Given the description of an element on the screen output the (x, y) to click on. 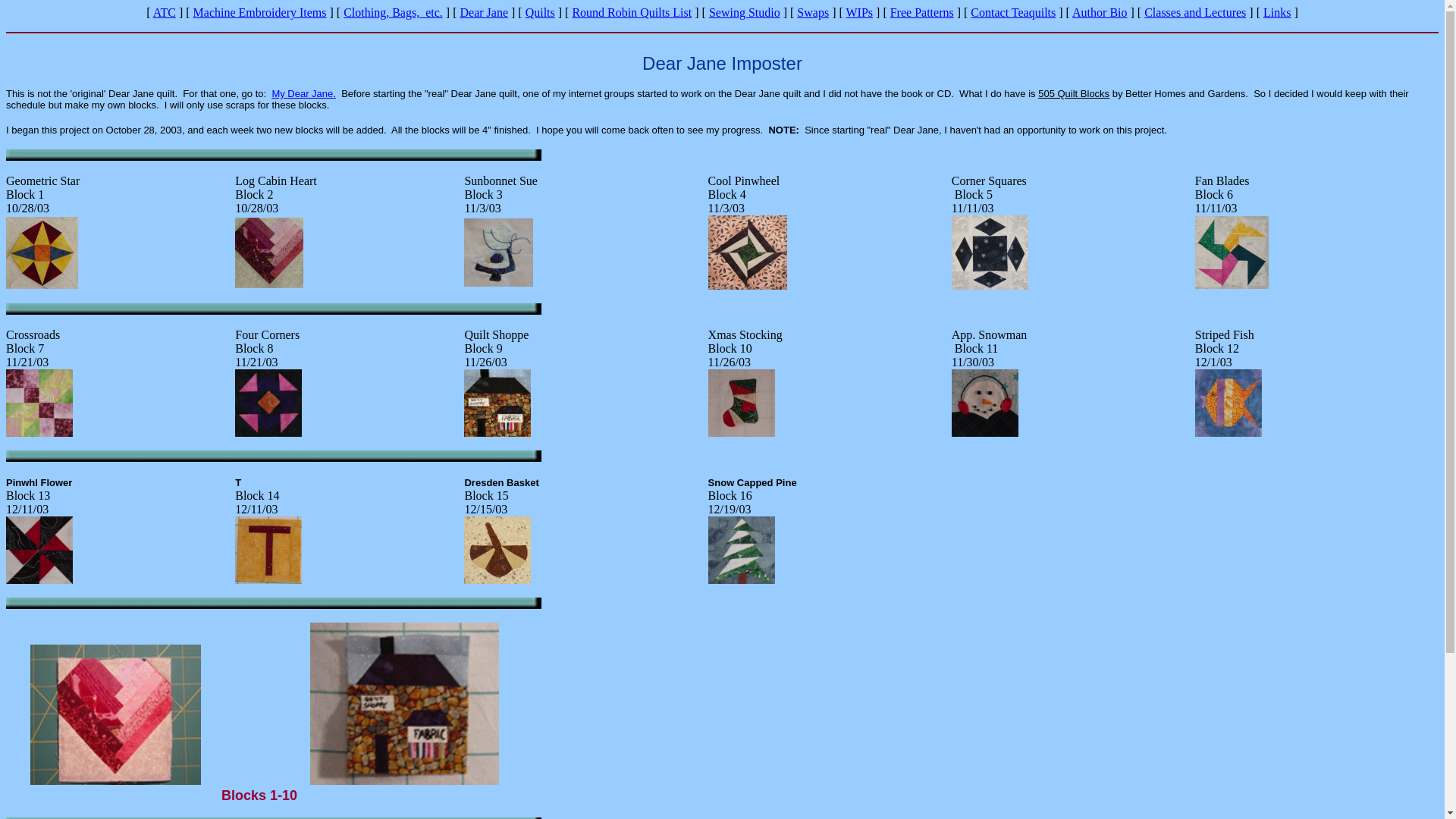
Author Bio (1098, 11)
Dear Jane (484, 11)
Quilts (539, 11)
ATC (164, 11)
Round Robin Quilts List (631, 11)
Contact Teaquilts (1013, 11)
Sewing Studio (744, 11)
Free Patterns (921, 11)
My (278, 92)
Classes and Lectures (1195, 11)
Links (1276, 11)
WIPs (859, 11)
Clothing, Bags,  etc. (392, 11)
Dear Jane. (311, 92)
Swaps (812, 11)
